Given the description of an element on the screen output the (x, y) to click on. 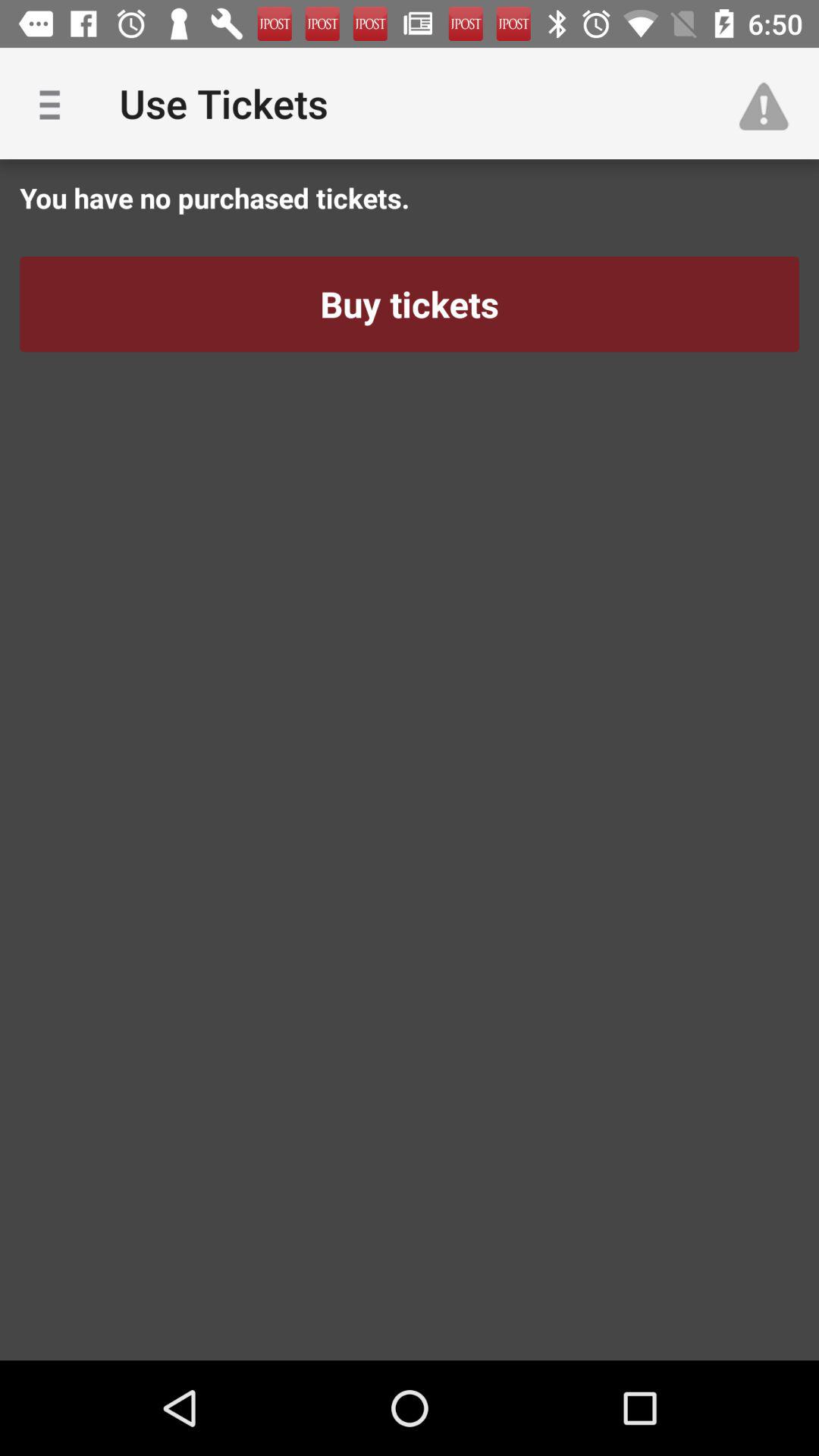
launch icon below you have no icon (409, 304)
